Given the description of an element on the screen output the (x, y) to click on. 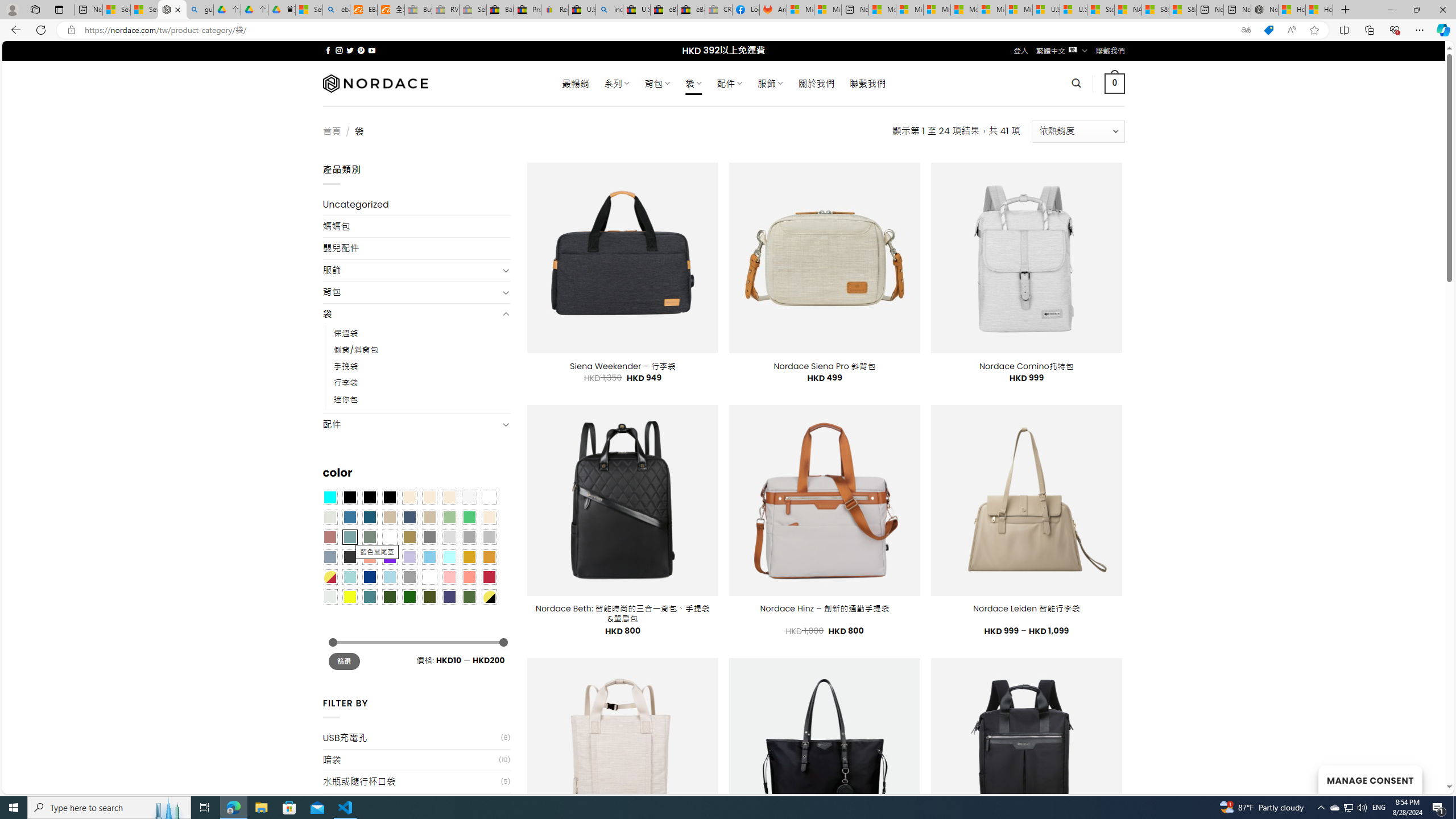
This site has coupons! Shopping in Microsoft Edge (1268, 29)
